Given the description of an element on the screen output the (x, y) to click on. 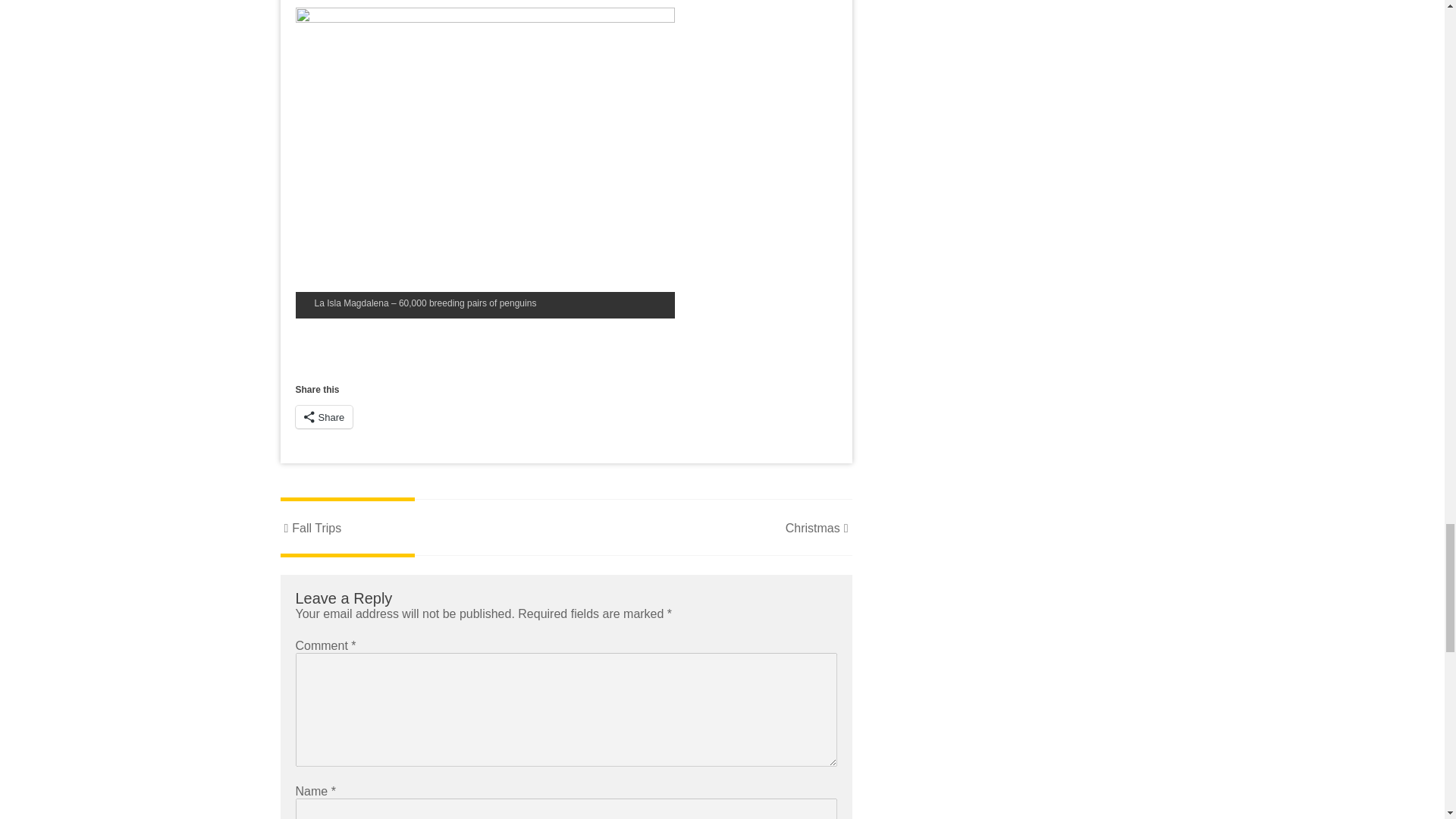
Fall Trips (311, 527)
Share (324, 416)
Christmas (818, 527)
